Given the description of an element on the screen output the (x, y) to click on. 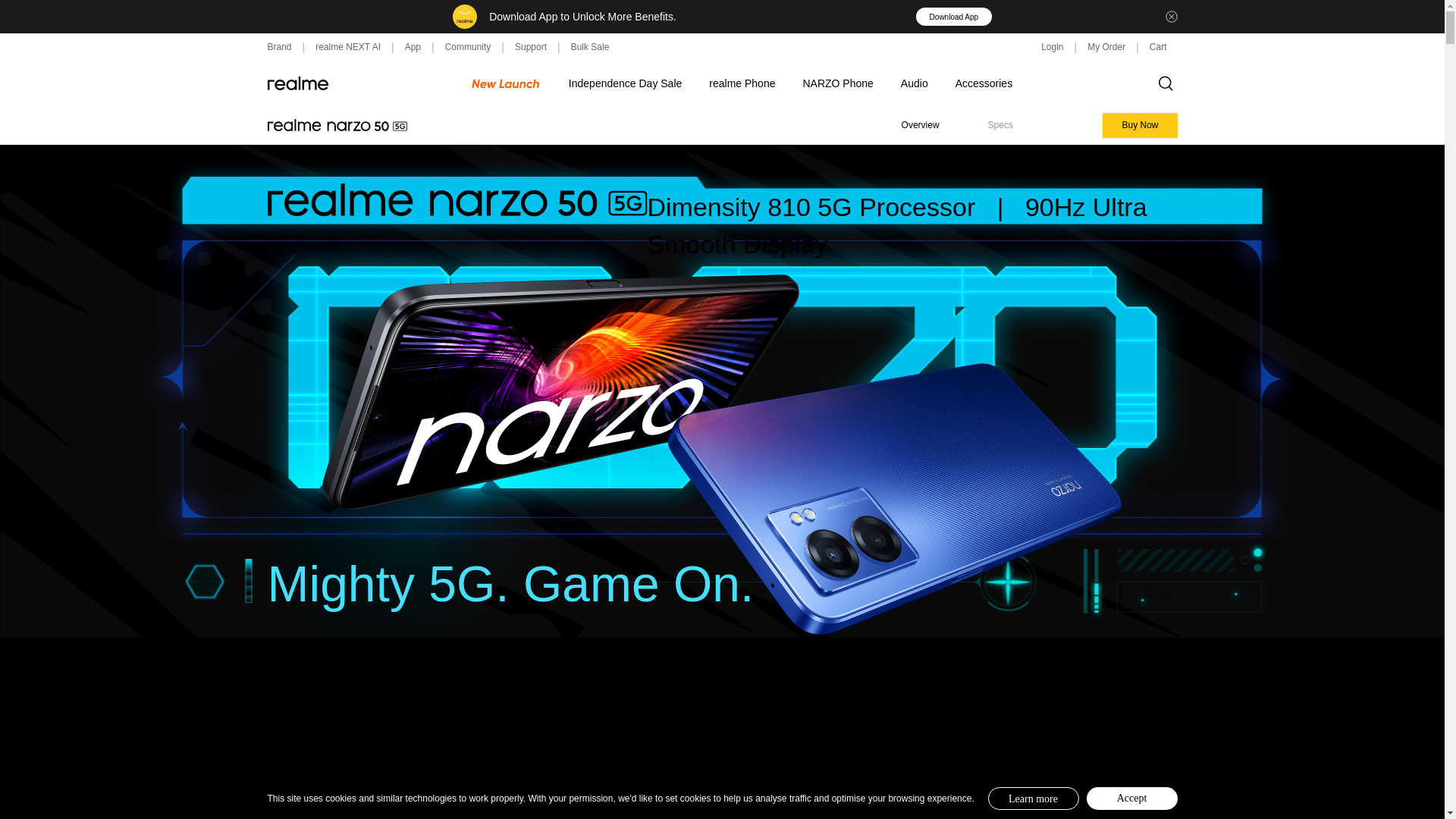
Independence Day Sale (625, 82)
realme Phone (741, 82)
My Order (1106, 46)
realme NEXT AI (347, 46)
Support (531, 46)
Support (531, 46)
Community (468, 46)
Bulk Sale (590, 46)
realme NEXT AI (347, 46)
realme (296, 83)
